Given the description of an element on the screen output the (x, y) to click on. 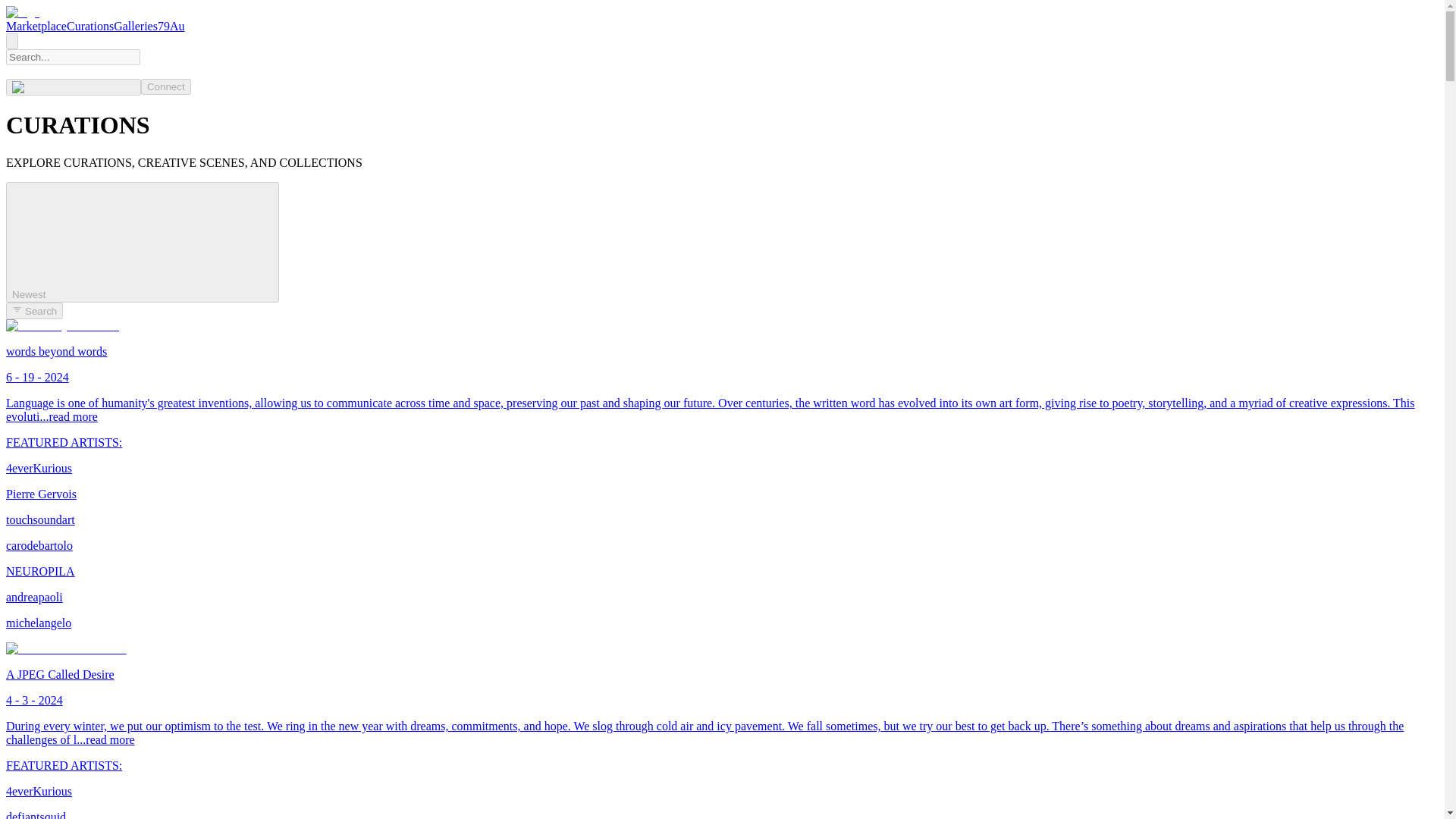
Curations (89, 25)
79Au (170, 25)
Connect (165, 86)
Marketplace (35, 25)
Search (33, 310)
Newest (142, 241)
Galleries (135, 25)
